Given the description of an element on the screen output the (x, y) to click on. 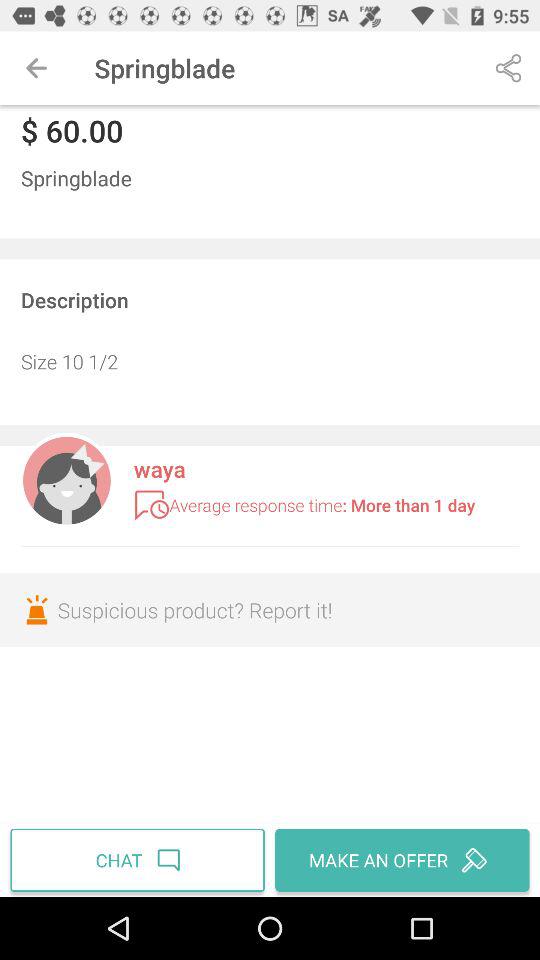
flip to the suspicious product report icon (270, 609)
